Given the description of an element on the screen output the (x, y) to click on. 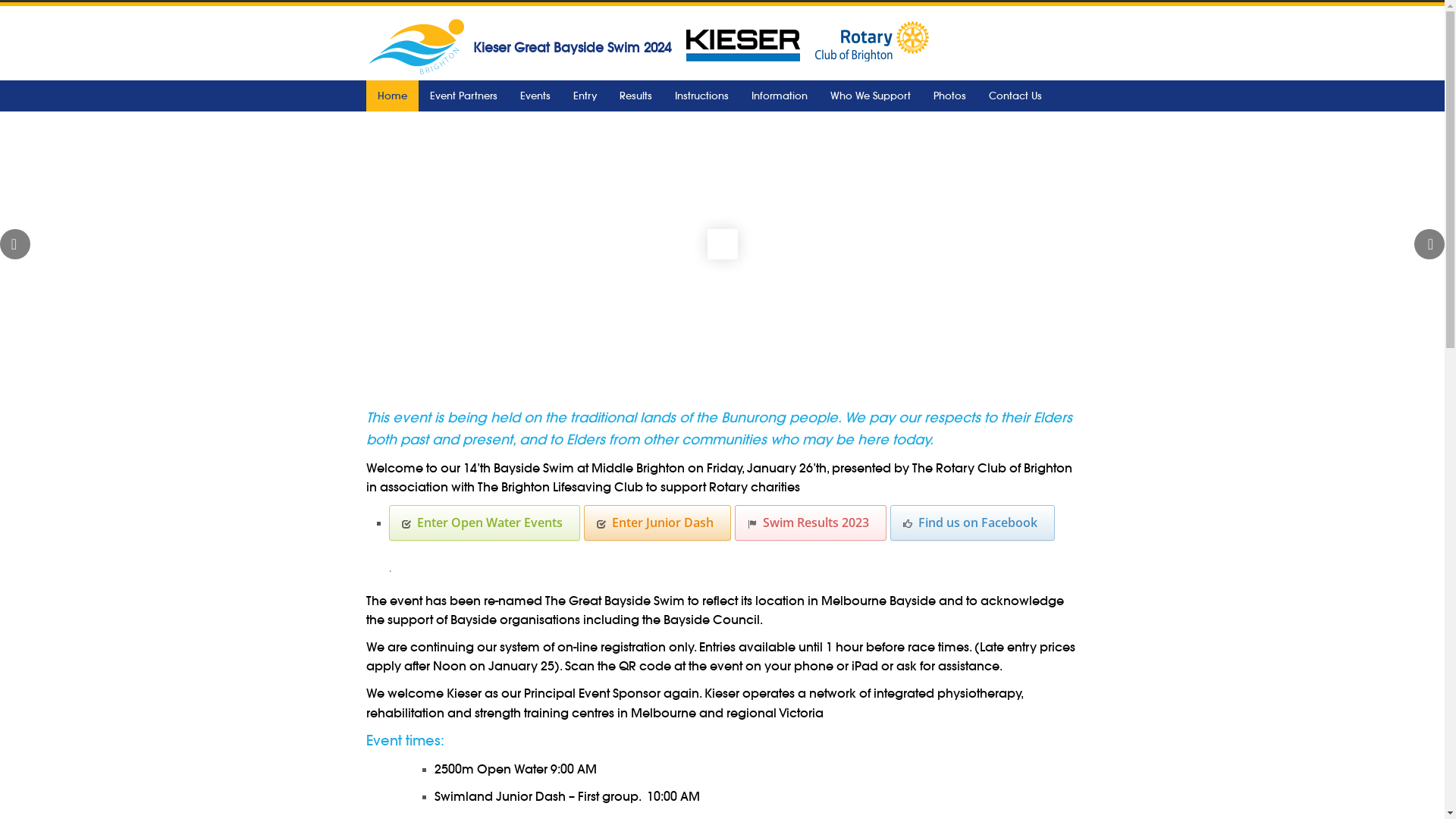
Home Element type: text (391, 95)
Swim Results 2023 Element type: text (809, 522)
Enter Open Water Events Element type: text (483, 522)
Enter Junior Dash Element type: text (657, 522)
Results Element type: text (635, 95)
Contact Us Element type: text (1014, 95)
Kieser Great Bayside Swim 2024 Element type: text (572, 47)
Photos Element type: text (949, 95)
Event Partners Element type: text (463, 95)
Instructions Element type: text (700, 95)
Find us on Facebook Element type: text (972, 522)
Entry Element type: text (584, 95)
Who We Support Element type: text (870, 95)
Events Element type: text (534, 95)
Information Element type: text (779, 95)
